Given the description of an element on the screen output the (x, y) to click on. 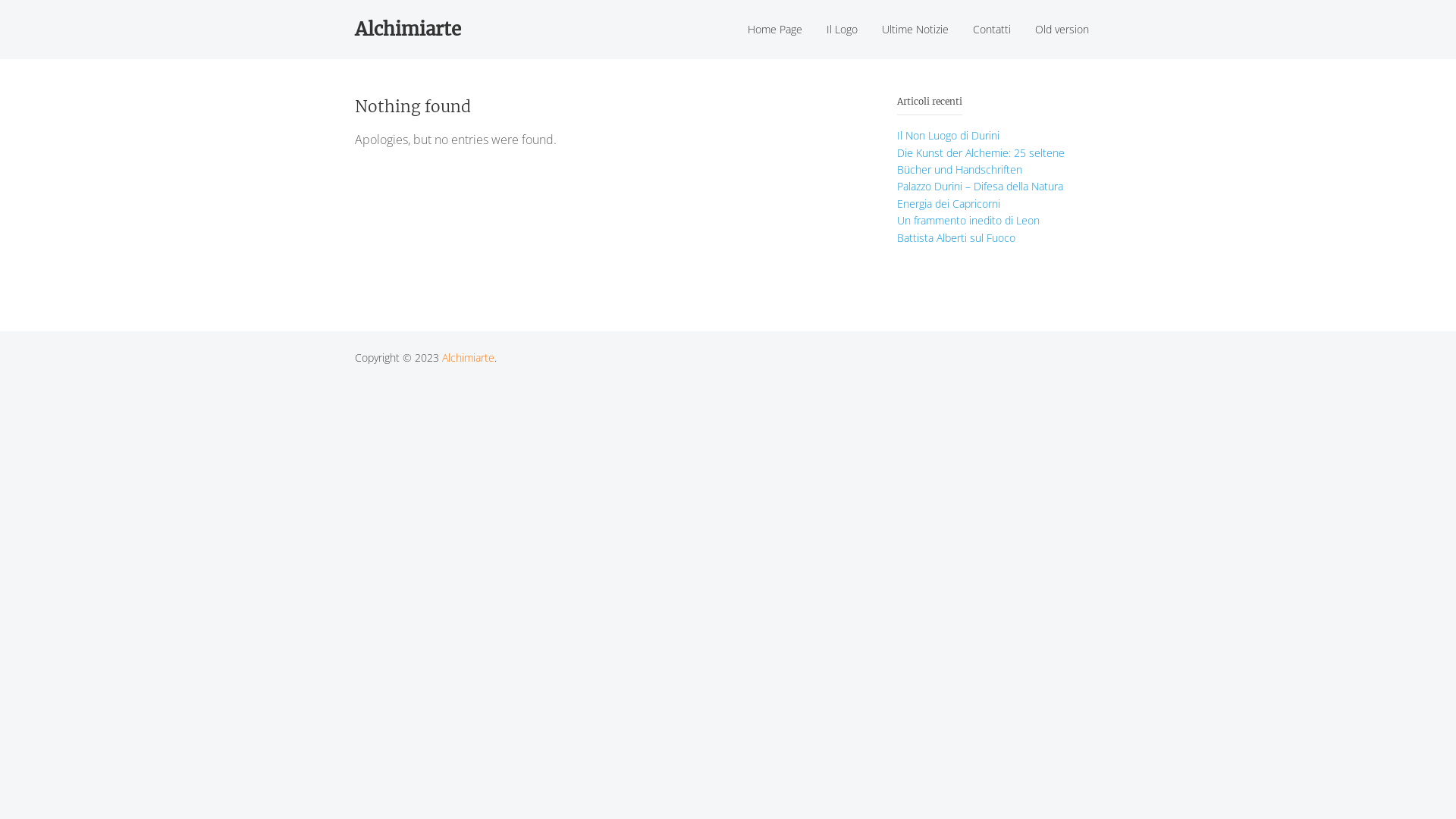
Home Page Element type: text (774, 29)
Contatti Element type: text (991, 29)
Il Logo Element type: text (841, 29)
Old version Element type: text (1061, 29)
Alchimiarte Element type: text (468, 357)
Ultime Notizie Element type: text (914, 29)
Alchimiarte Element type: text (413, 29)
Energia dei Capricorni Element type: text (948, 203)
Un frammento inedito di Leon Battista Alberti sul Fuoco Element type: text (968, 228)
Il Non Luogo di Durini Element type: text (948, 135)
